Given the description of an element on the screen output the (x, y) to click on. 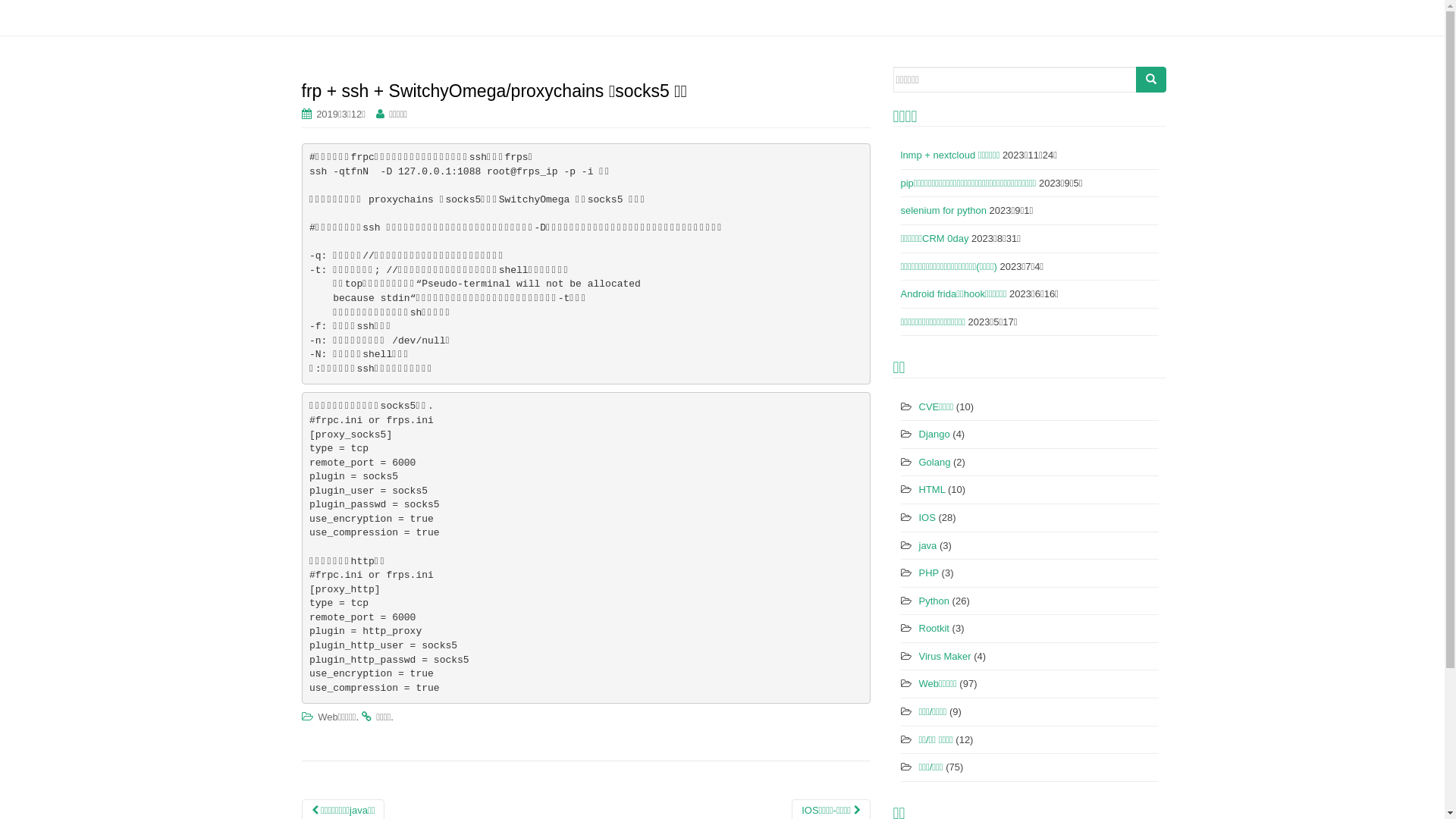
Search Element type: text (1150, 79)
IOS Element type: text (927, 517)
Django Element type: text (934, 433)
PHP Element type: text (929, 572)
Virus Maker Element type: text (945, 656)
java Element type: text (928, 545)
selenium for python Element type: text (943, 210)
Rootkit Element type: text (934, 627)
Python Element type: text (934, 600)
Golang Element type: text (934, 461)
HTML Element type: text (932, 489)
